Given the description of an element on the screen output the (x, y) to click on. 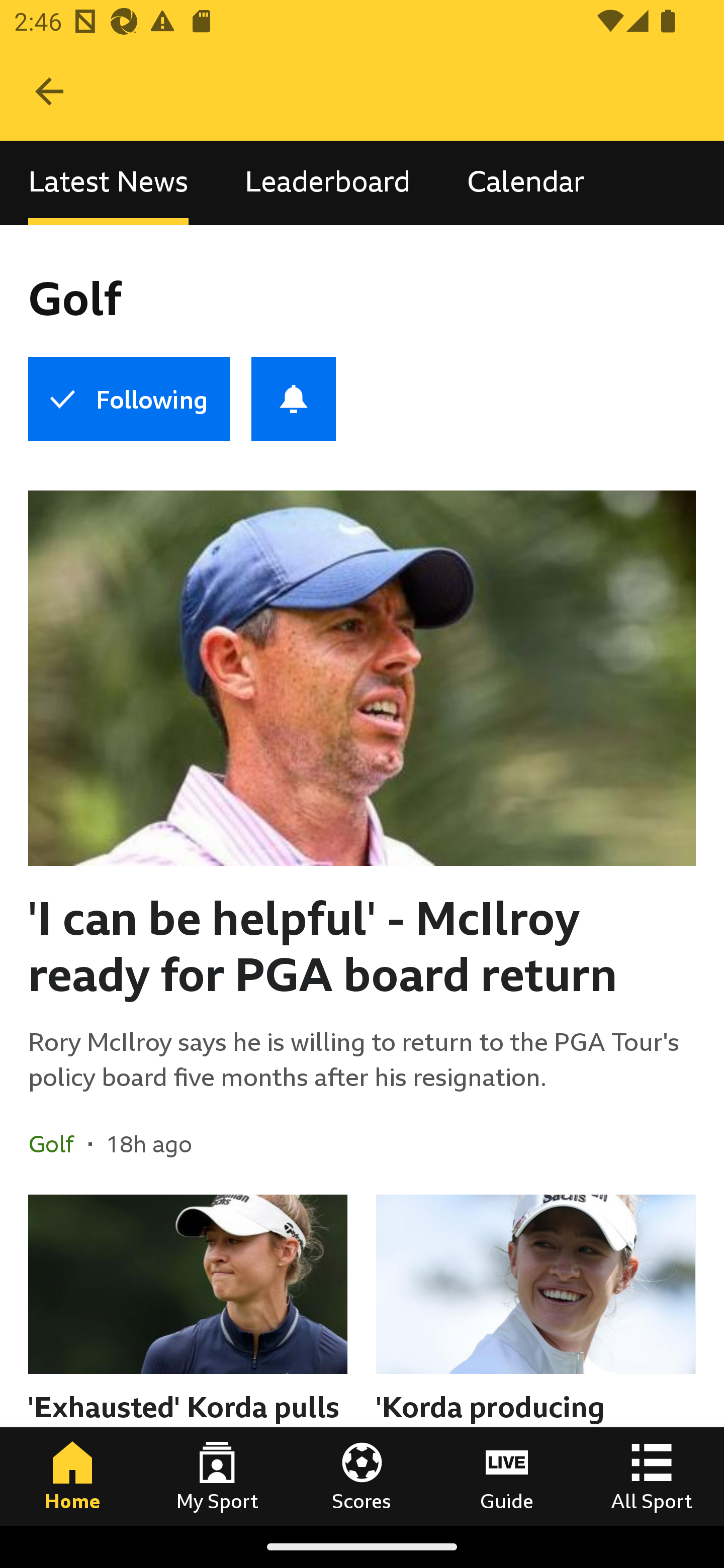
Navigate up (49, 91)
Latest News, selected Latest News (108, 183)
Leaderboard (327, 183)
Calendar (525, 183)
Following Golf Following (129, 398)
Push notifications for Golf (293, 398)
My Sport (216, 1475)
Scores (361, 1475)
Guide (506, 1475)
All Sport (651, 1475)
